Given the description of an element on the screen output the (x, y) to click on. 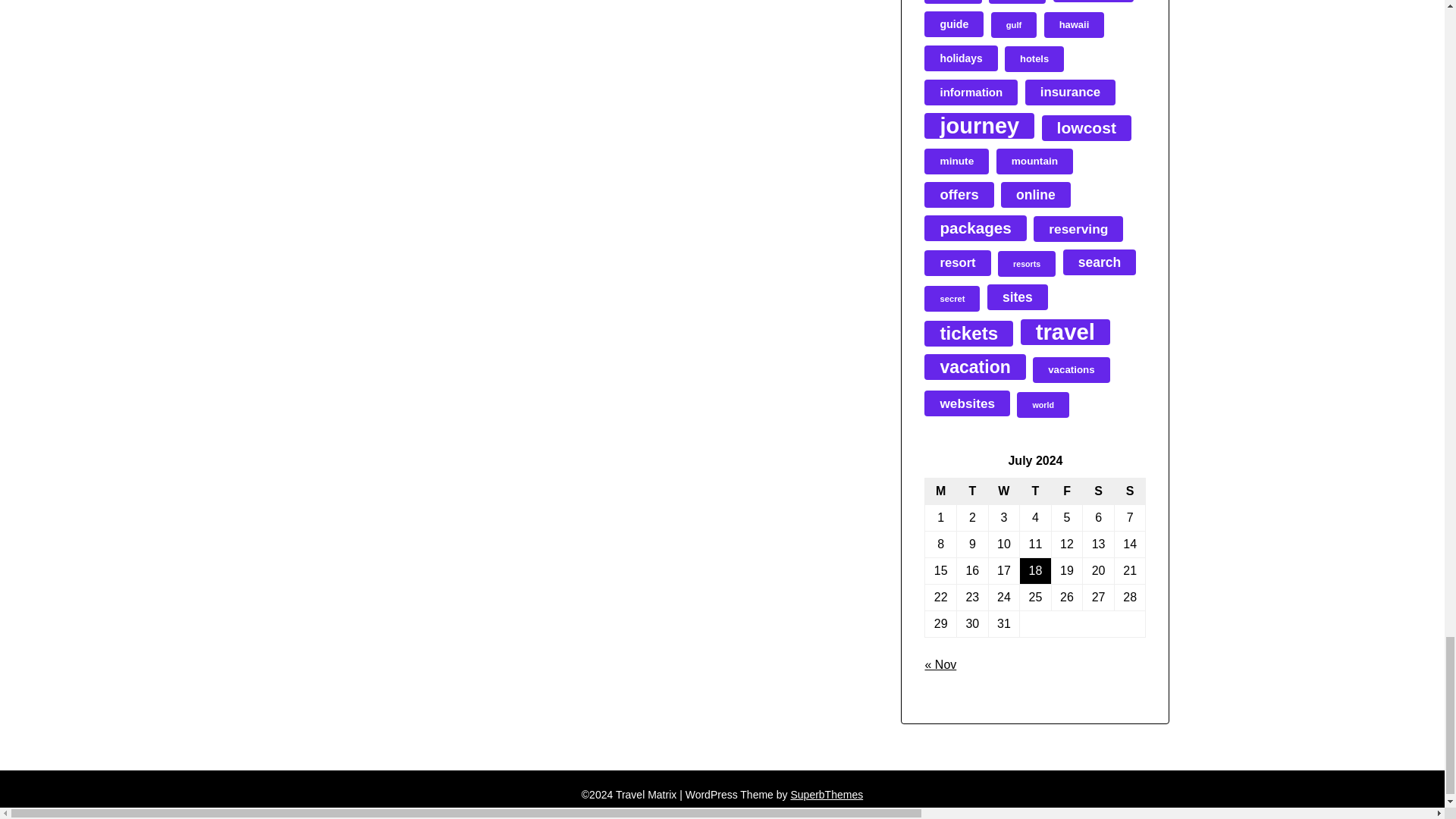
Tuesday (972, 490)
Sunday (1129, 490)
Thursday (1035, 490)
Wednesday (1004, 490)
Monday (940, 490)
Friday (1067, 490)
Saturday (1099, 490)
